Given the description of an element on the screen output the (x, y) to click on. 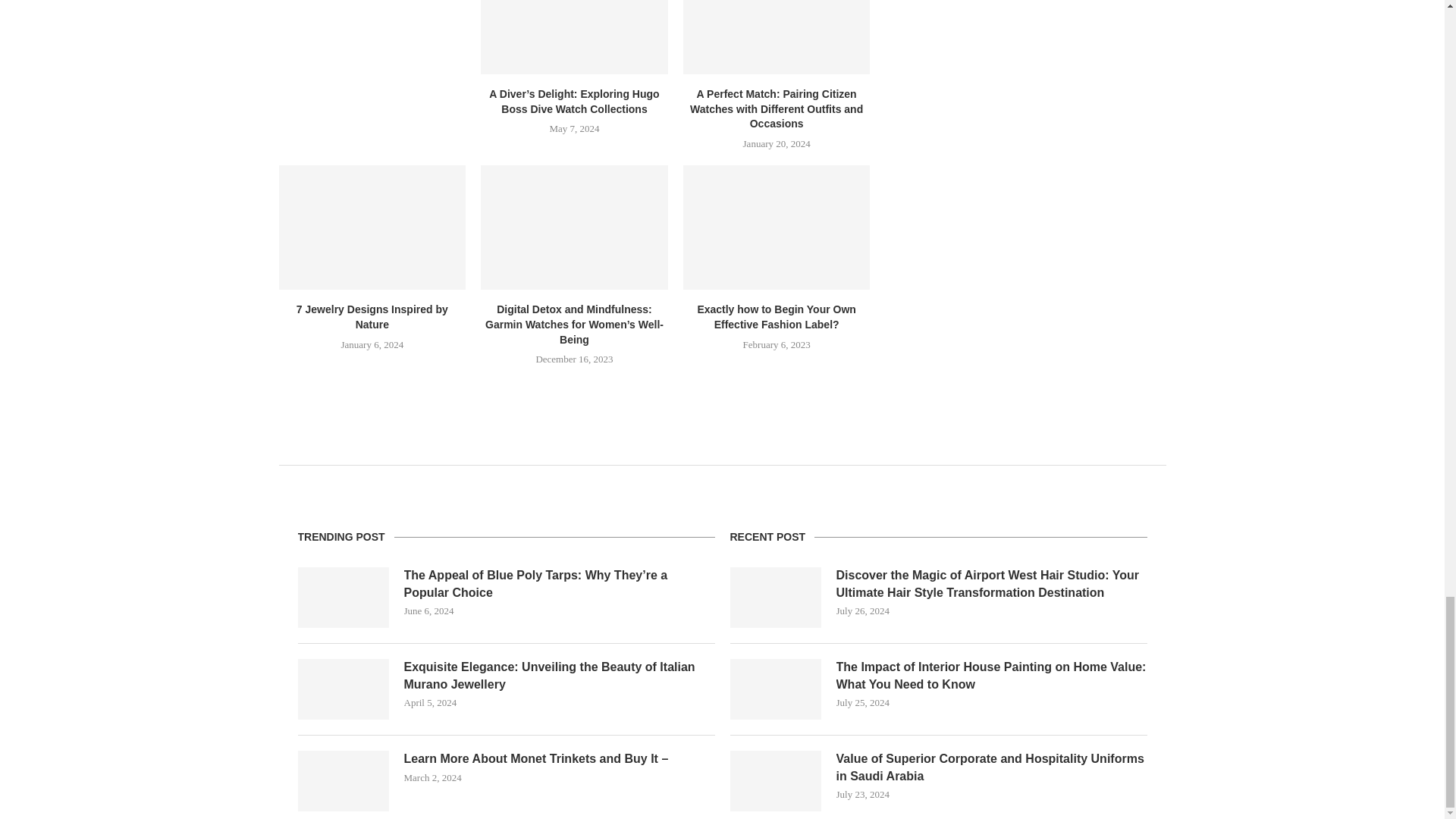
7 Jewelry Designs Inspired by Nature (372, 227)
Exactly how to Begin Your Own Effective Fashion Label? (776, 227)
